Given the description of an element on the screen output the (x, y) to click on. 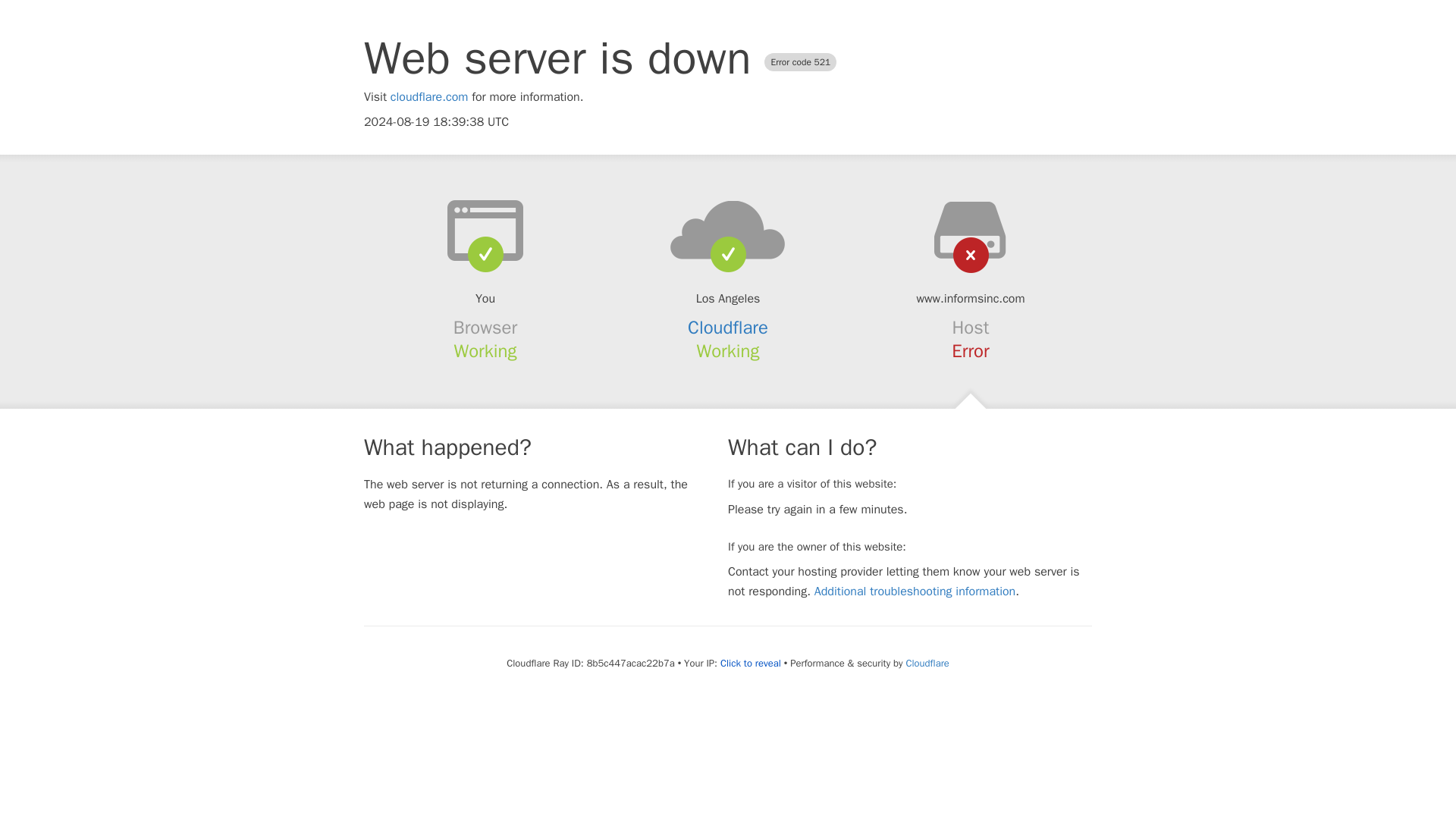
Additional troubleshooting information (913, 590)
cloudflare.com (429, 96)
Cloudflare (727, 327)
Click to reveal (750, 663)
Cloudflare (927, 662)
